Given the description of an element on the screen output the (x, y) to click on. 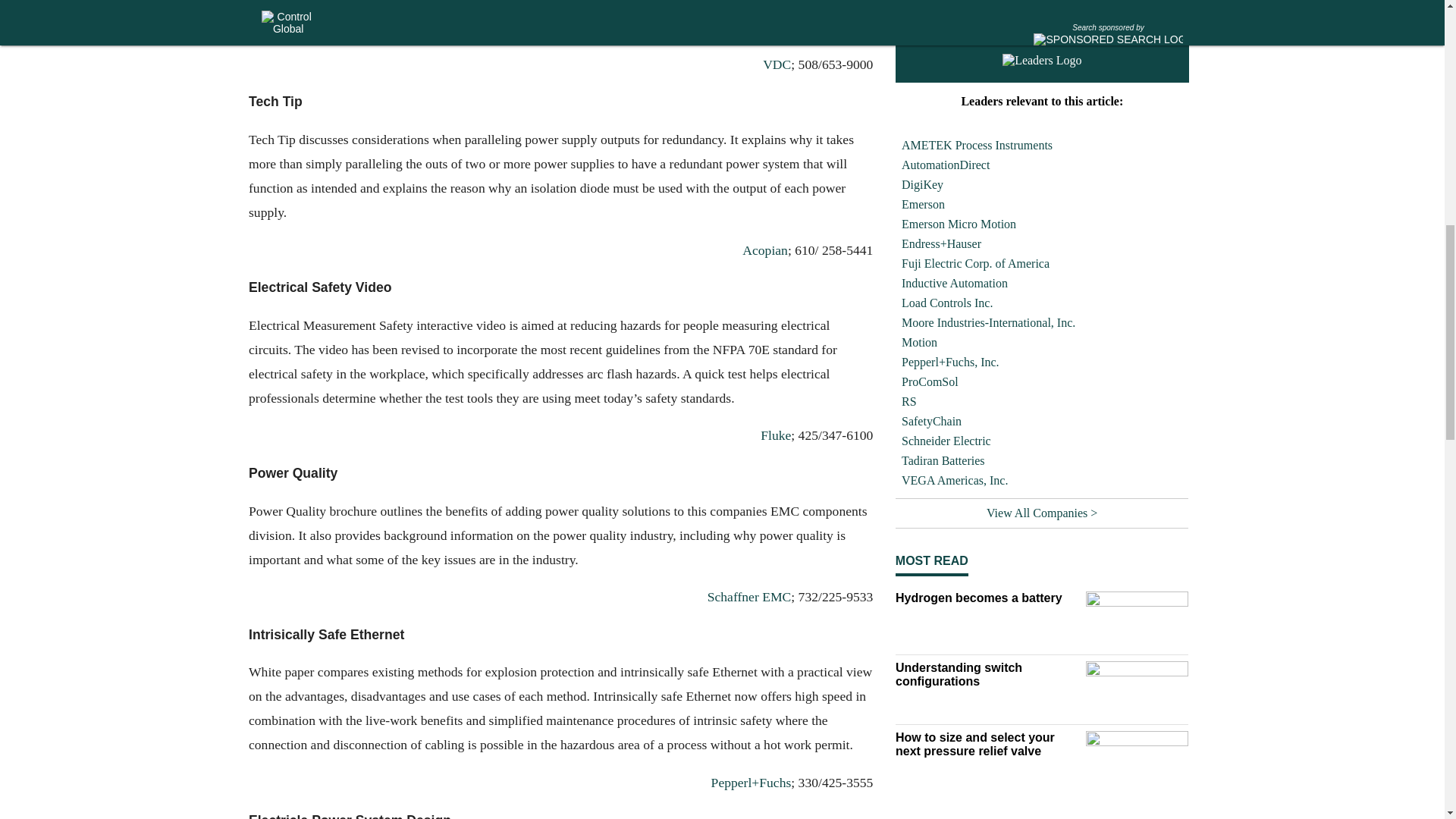
Schaffner EMC (748, 597)
Acopian (764, 249)
Fluke (775, 435)
VDC (776, 64)
